Given the description of an element on the screen output the (x, y) to click on. 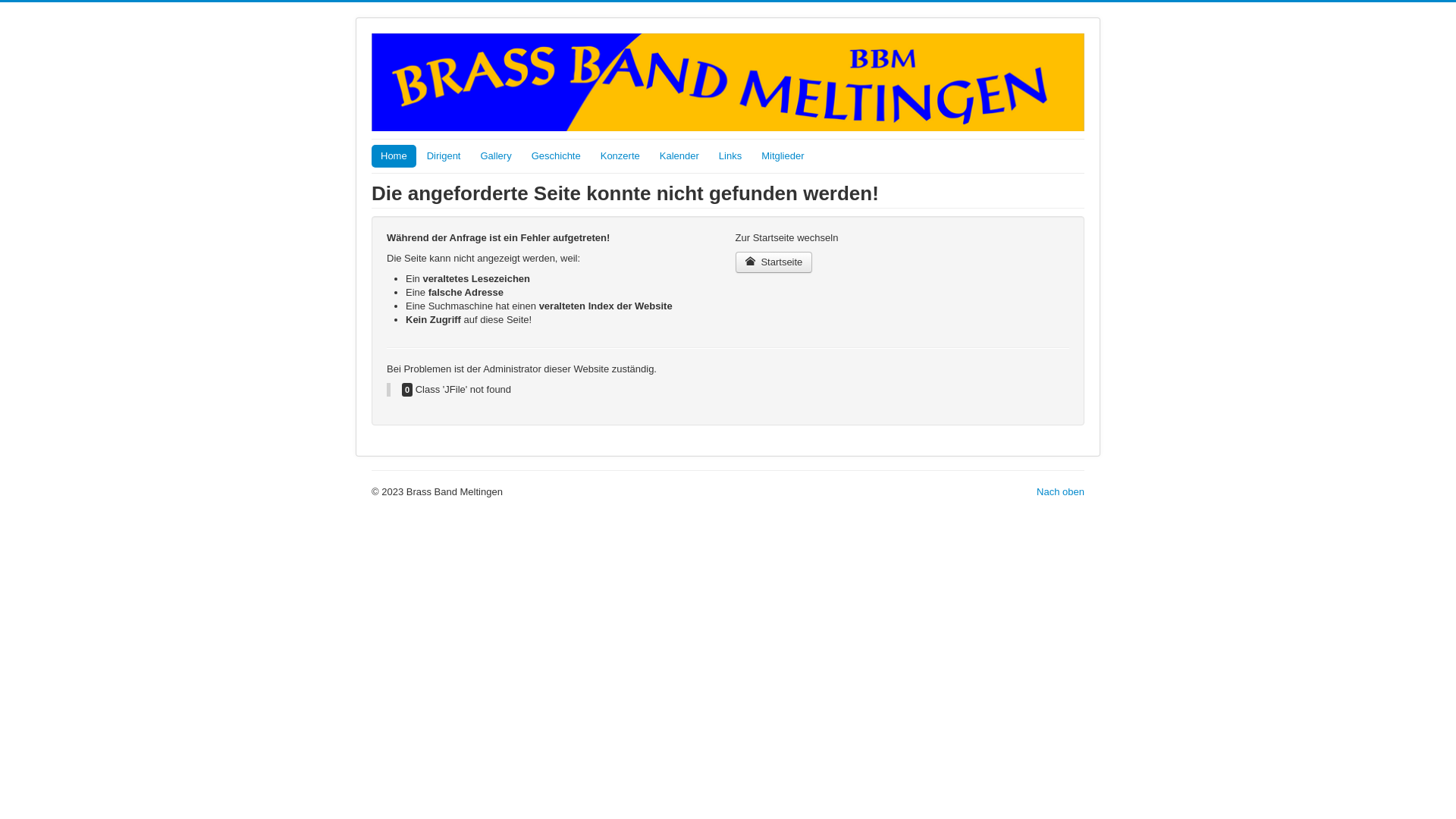
Kalender Element type: text (679, 155)
Home Element type: text (393, 155)
Mitglieder Element type: text (782, 155)
Nach oben Element type: text (1060, 491)
Konzerte Element type: text (620, 155)
Startseite Element type: text (773, 262)
Gallery Element type: text (495, 155)
Geschichte Element type: text (555, 155)
Dirigent Element type: text (443, 155)
Links Element type: text (729, 155)
